Given the description of an element on the screen output the (x, y) to click on. 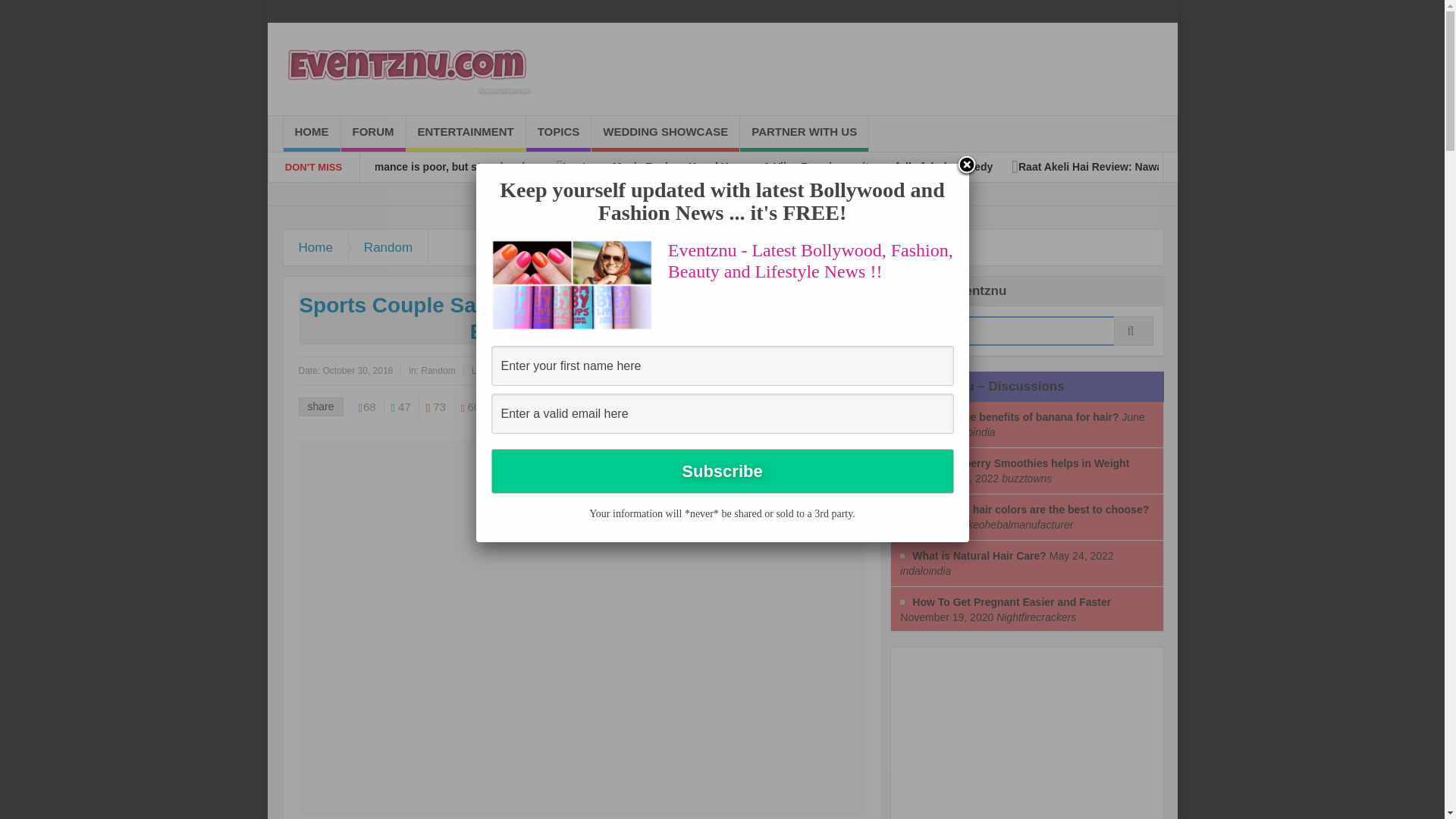
HOME (311, 133)
ENTERTAINMENT (465, 133)
Search for: (1027, 330)
WEDDING SHOWCASE (665, 133)
TOPICS (558, 133)
Home (316, 247)
PARTNER WITH US (803, 133)
Random (388, 247)
Search (1027, 330)
Random (388, 247)
